Given the description of an element on the screen output the (x, y) to click on. 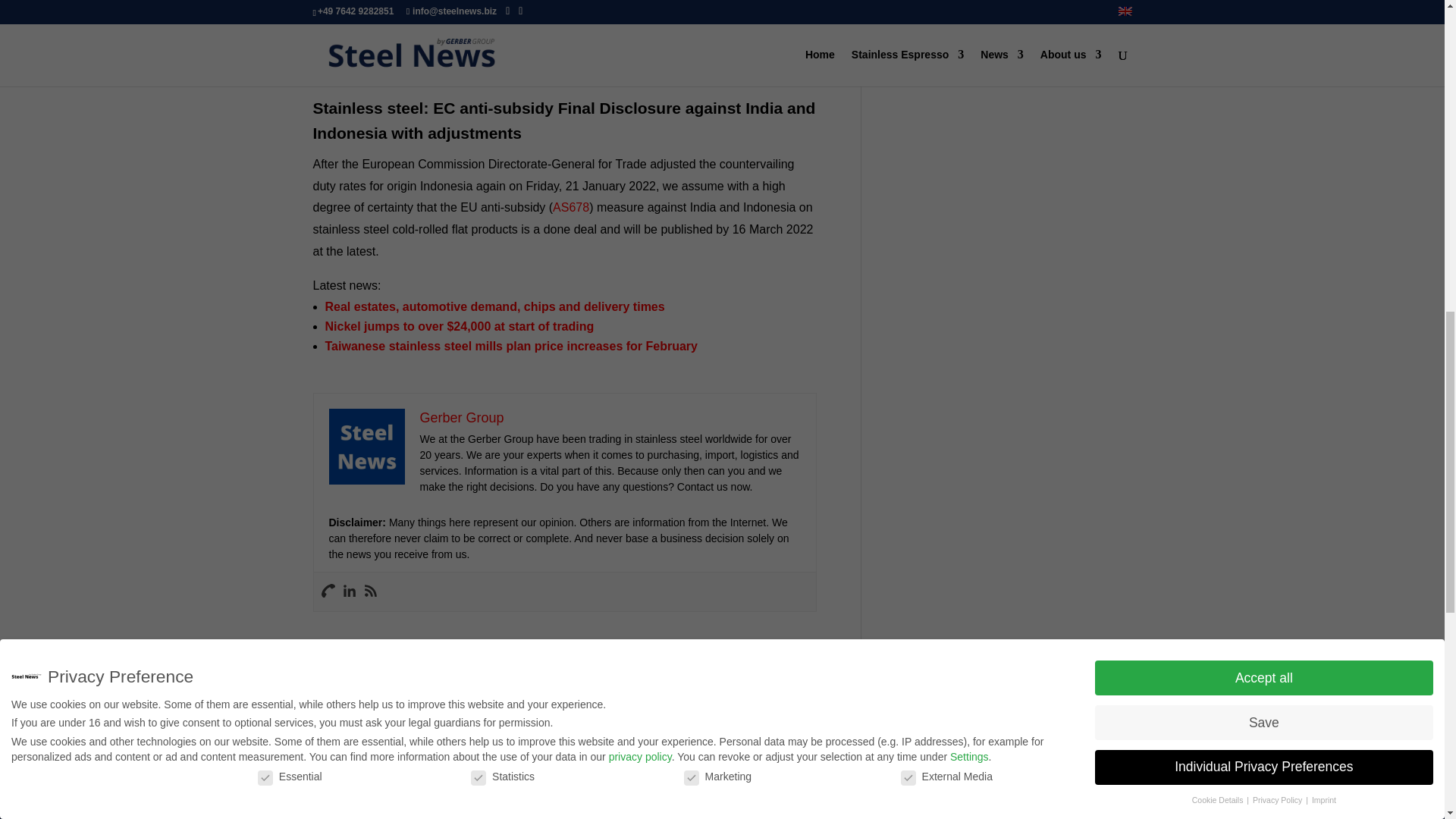
Real estates, automotive demand, chips and delivery times (493, 306)
Rss (370, 591)
AS678 (571, 206)
Gerber Group (461, 417)
Linkedin (349, 591)
Deutsche Bank (706, 27)
Phone (327, 591)
